Given the description of an element on the screen output the (x, y) to click on. 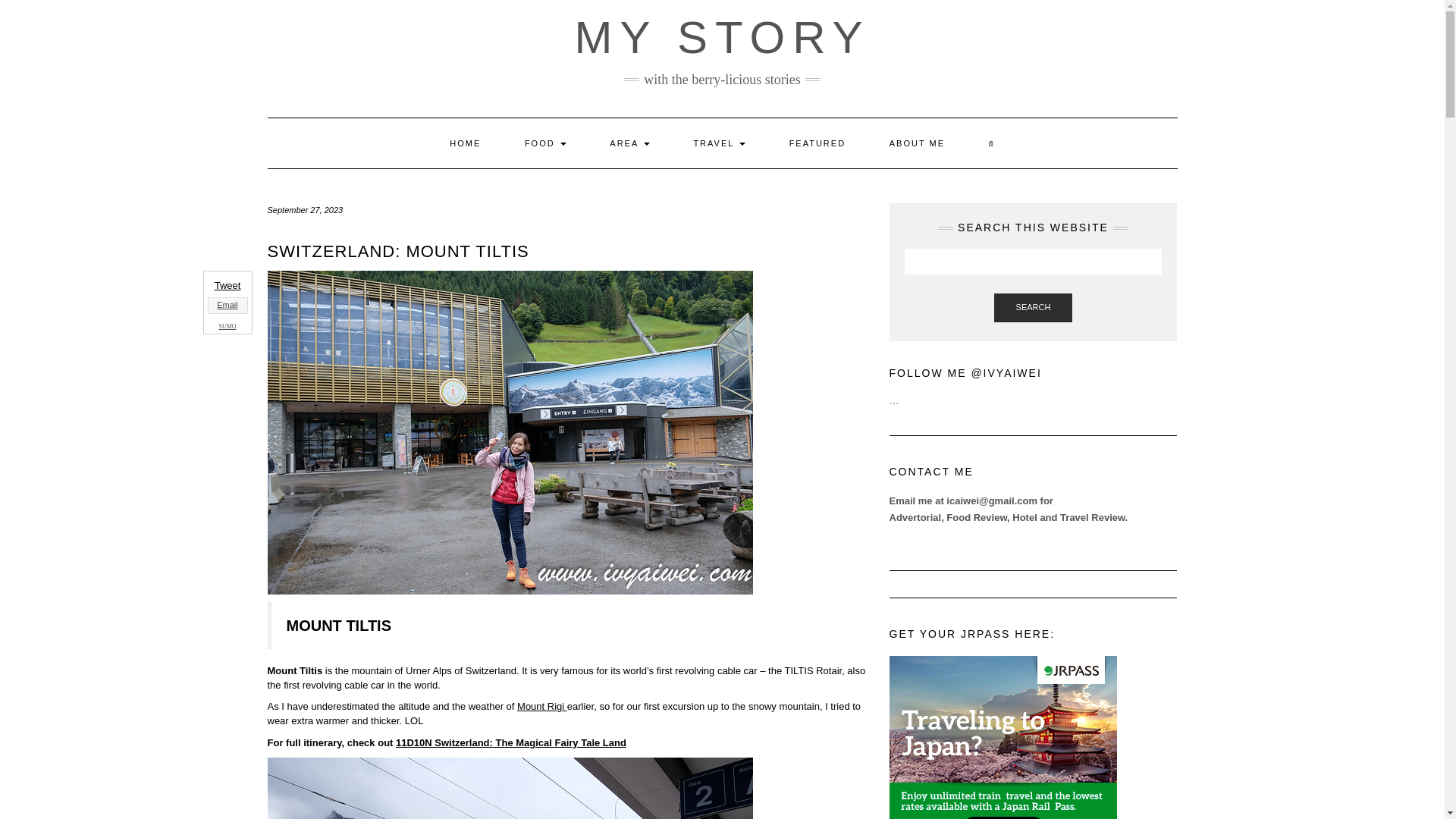
HOME (464, 142)
FOOD (544, 142)
AREA (629, 142)
MY STORY (721, 37)
